Given the description of an element on the screen output the (x, y) to click on. 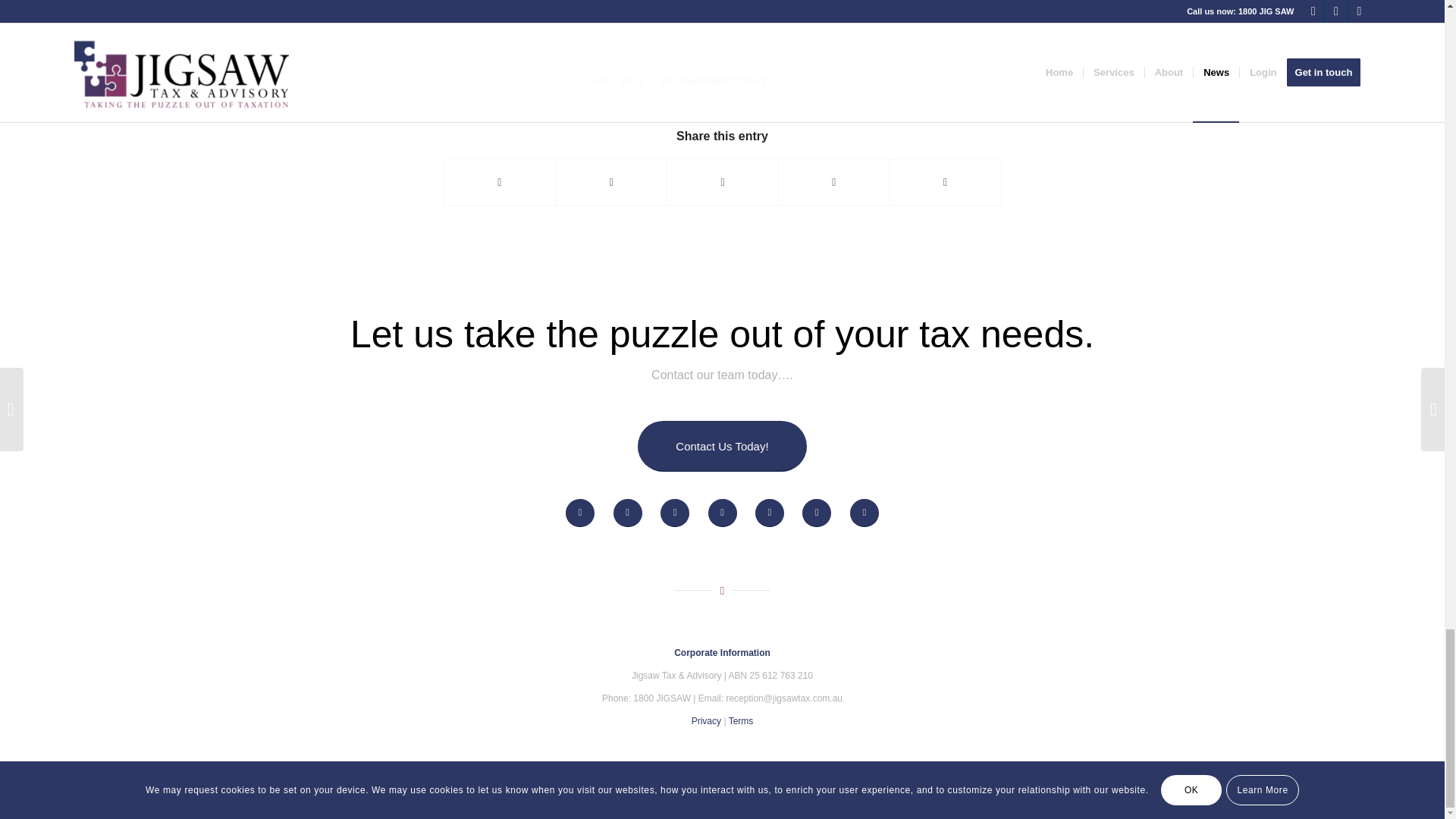
Linkedin (1336, 793)
Posts by JigsawReview (721, 80)
Privacy (705, 720)
Jigsaw Tax (146, 796)
powered by Enfold WordPress Theme (243, 796)
Facebook (1312, 793)
Contact Us Today! (721, 445)
Twitter (1359, 793)
JIGSAWREVIEW (721, 80)
Terms (741, 720)
